Given the description of an element on the screen output the (x, y) to click on. 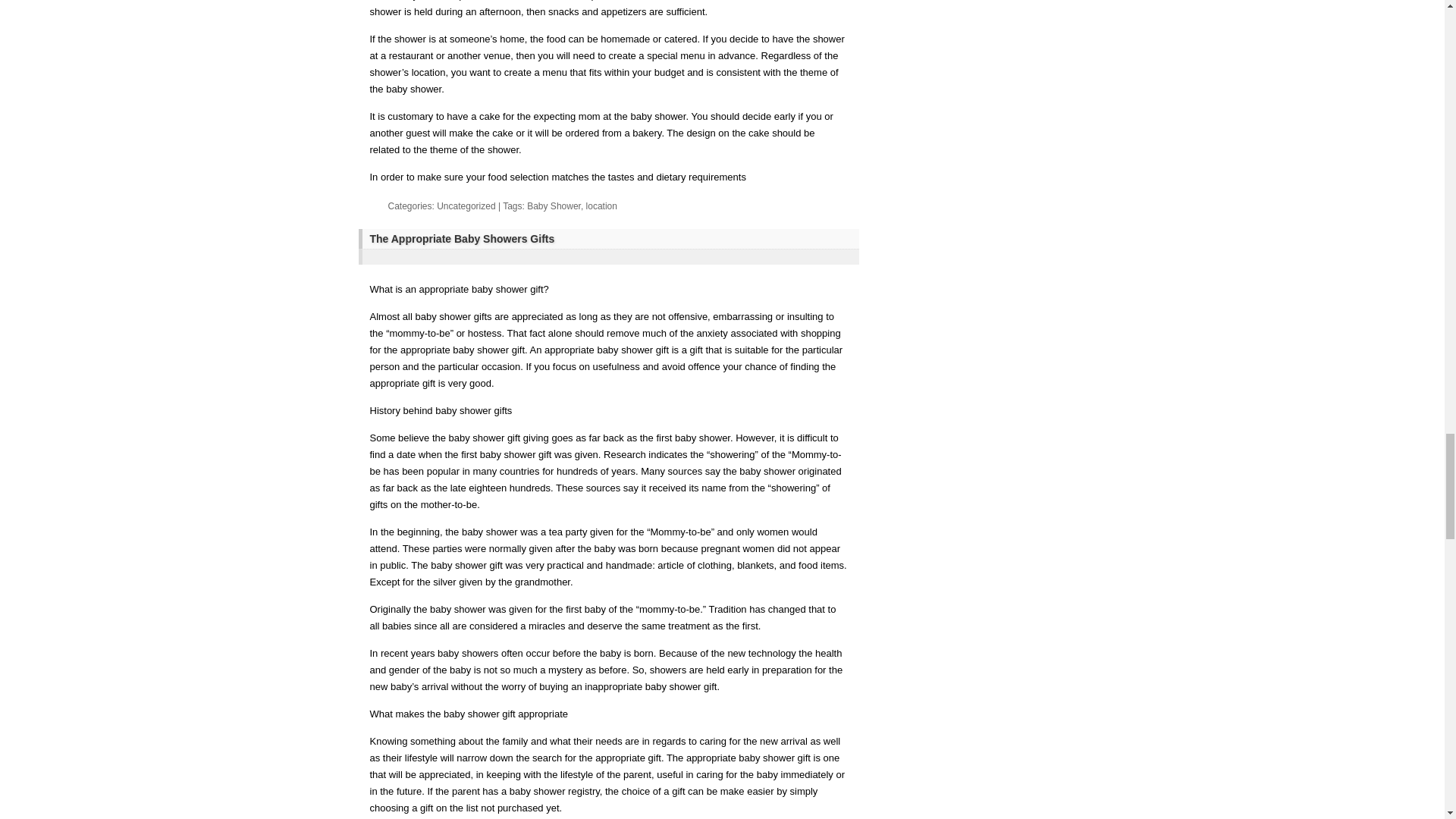
Baby Shower (553, 205)
Uncategorized (465, 205)
View all posts in Uncategorized (465, 205)
The Appropriate Baby Showers Gifts (610, 238)
location (601, 205)
